Given the description of an element on the screen output the (x, y) to click on. 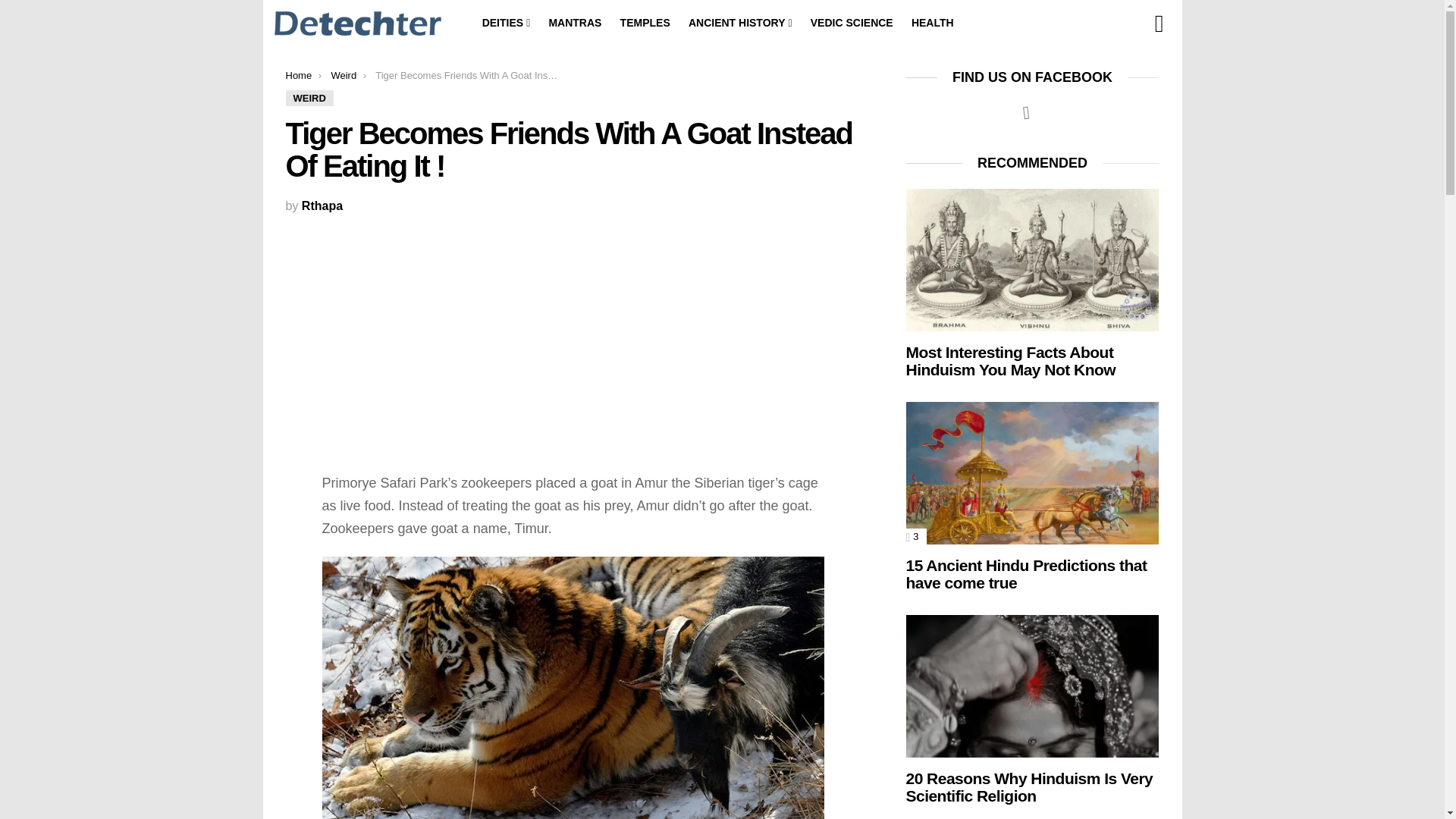
TEMPLES (645, 22)
MANTRAS (574, 22)
DEITIES (506, 23)
Posts by Rthapa (321, 205)
ANCIENT HISTORY (740, 23)
Home (298, 75)
Weird (343, 75)
VEDIC SCIENCE (852, 22)
WEIRD (309, 98)
Advertisement (572, 336)
HEALTH (932, 22)
Rthapa (321, 205)
SEARCH (1159, 23)
